Given the description of an element on the screen output the (x, y) to click on. 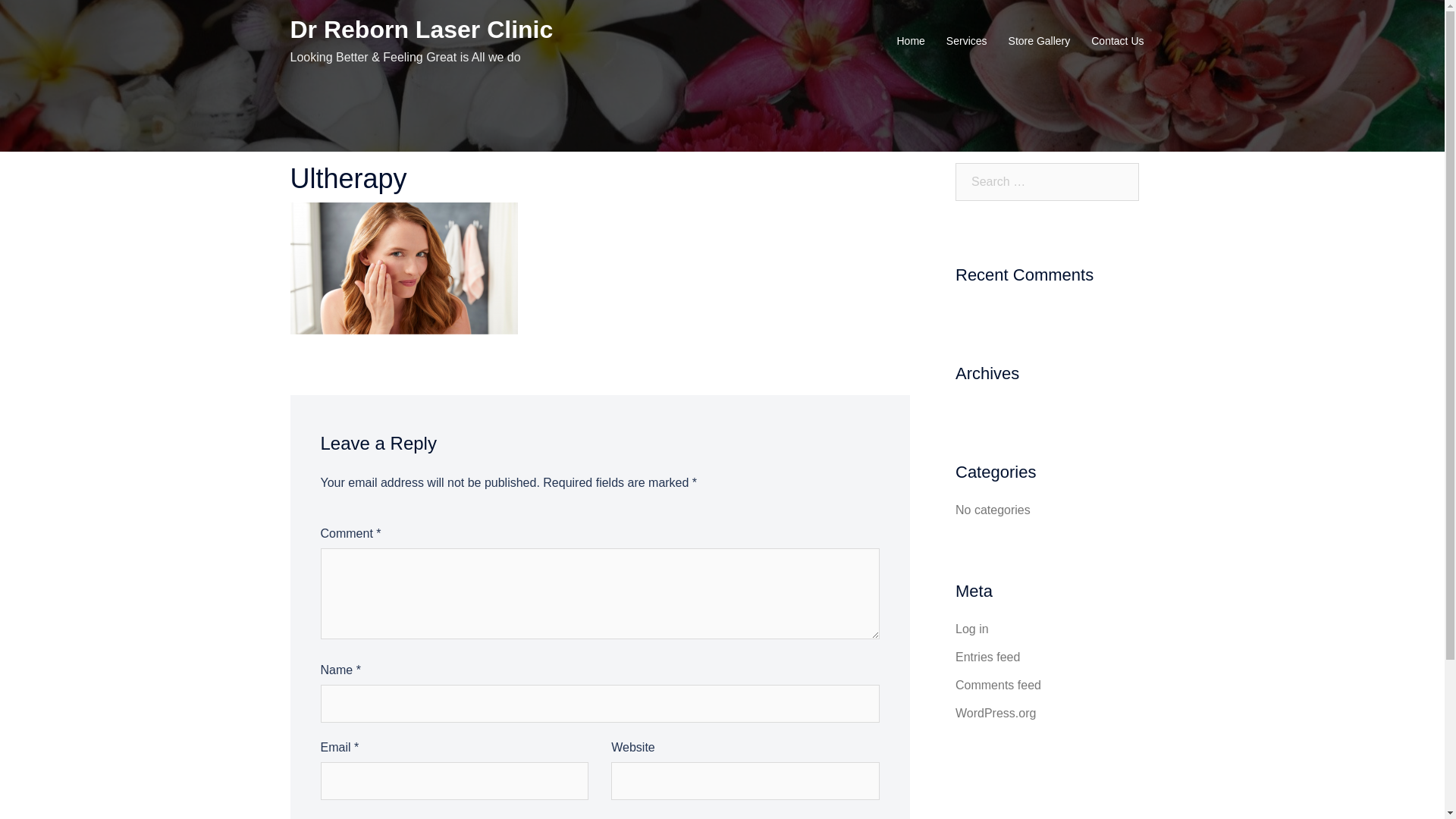
Dr Reborn Laser Clinic Element type: text (420, 29)
Comments feed Element type: text (998, 684)
Entries feed Element type: text (987, 656)
Log in Element type: text (971, 628)
Services Element type: text (966, 41)
Contact Us Element type: text (1117, 41)
WordPress.org Element type: text (995, 712)
Home Element type: text (910, 41)
Store Gallery Element type: text (1039, 41)
Search Element type: text (51, 18)
